Given the description of an element on the screen output the (x, y) to click on. 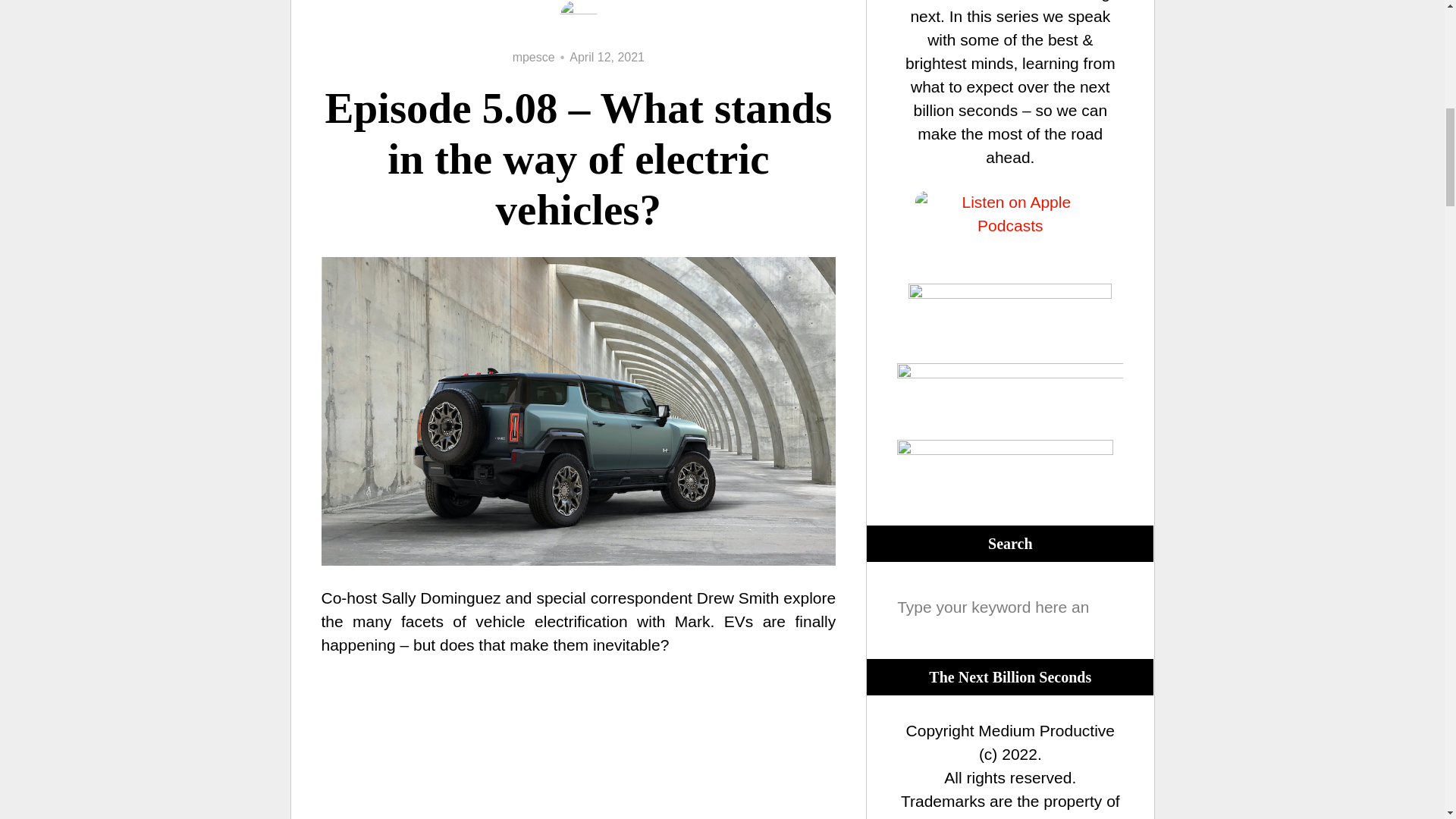
What stands in the way of electric vehicles? (578, 746)
